Given the description of an element on the screen output the (x, y) to click on. 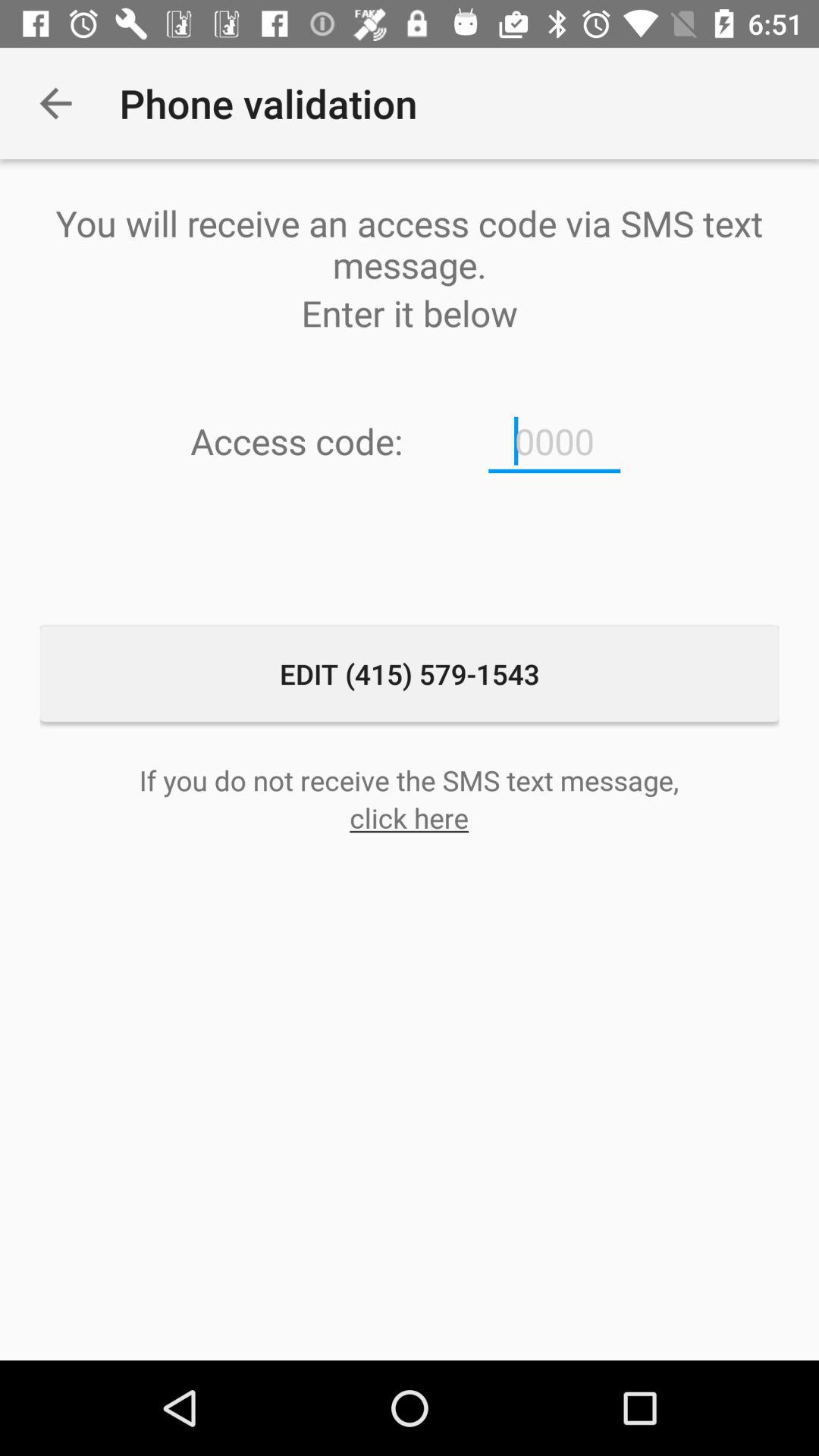
choose if you do (409, 780)
